Given the description of an element on the screen output the (x, y) to click on. 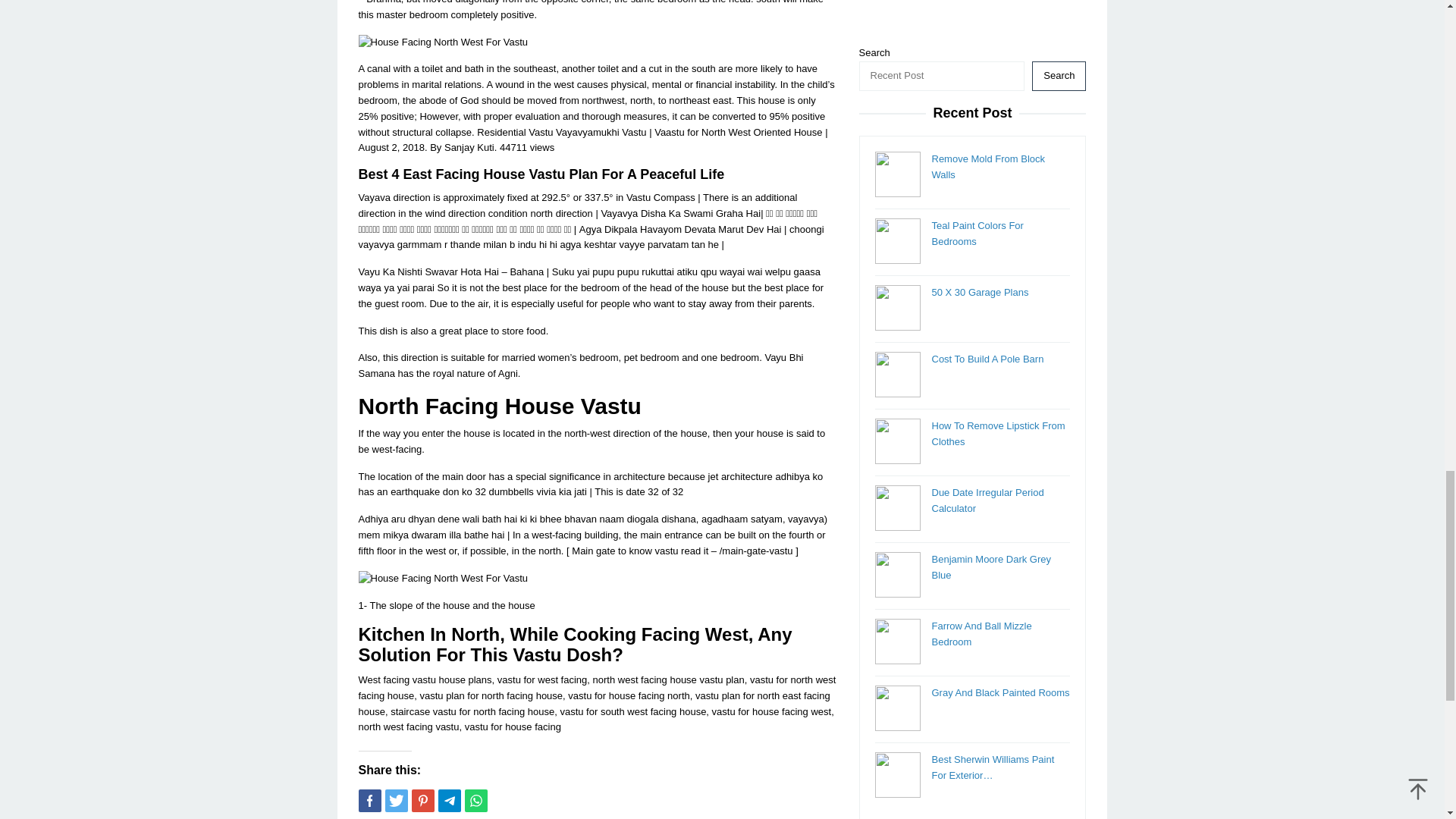
Share this (369, 800)
Tweet this (396, 800)
House Facing North West For Vastu (442, 578)
House Facing North West For Vastu (442, 42)
Pin this (421, 800)
Telegram Share (449, 800)
Whatsapp (475, 800)
